Given the description of an element on the screen output the (x, y) to click on. 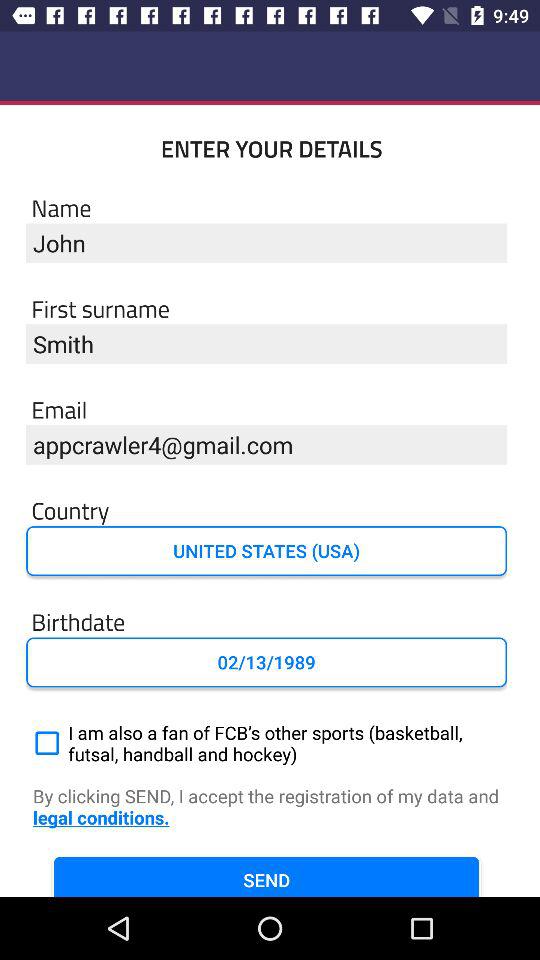
scroll until the smith item (266, 343)
